Given the description of an element on the screen output the (x, y) to click on. 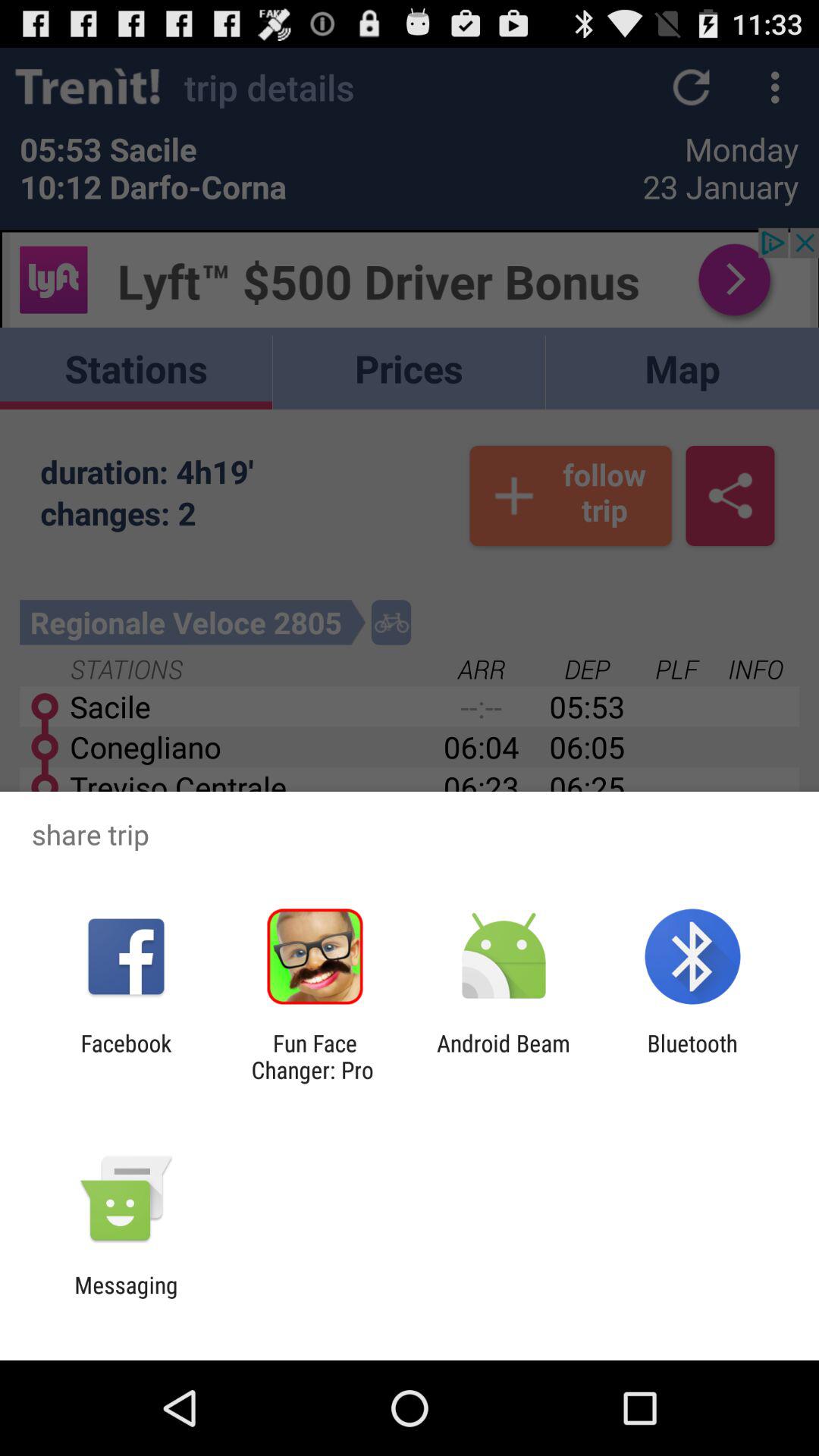
swipe to bluetooth app (692, 1056)
